Given the description of an element on the screen output the (x, y) to click on. 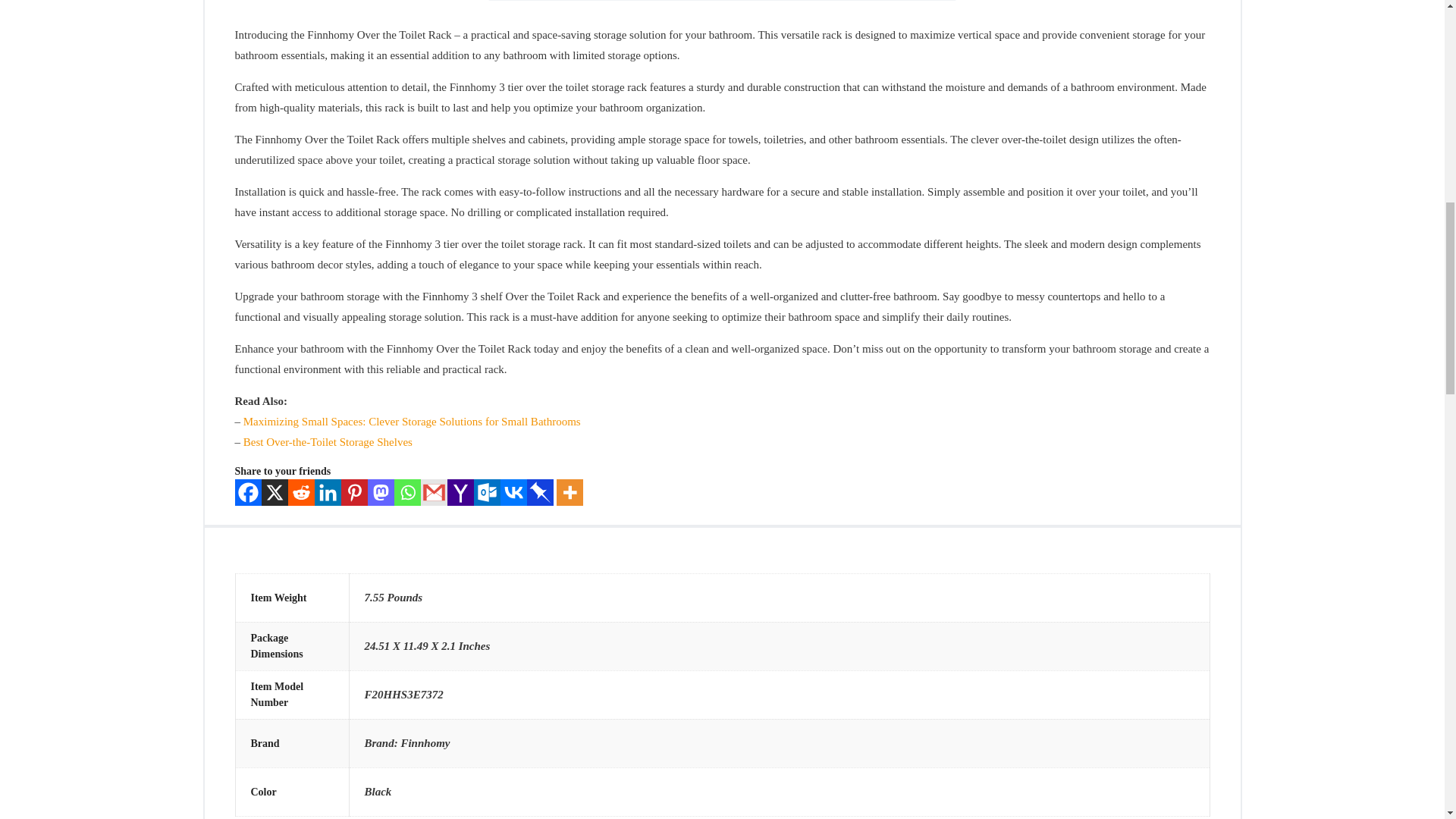
Facebook (248, 492)
X (273, 492)
Reddit (301, 492)
Linkedin (327, 492)
